Given the description of an element on the screen output the (x, y) to click on. 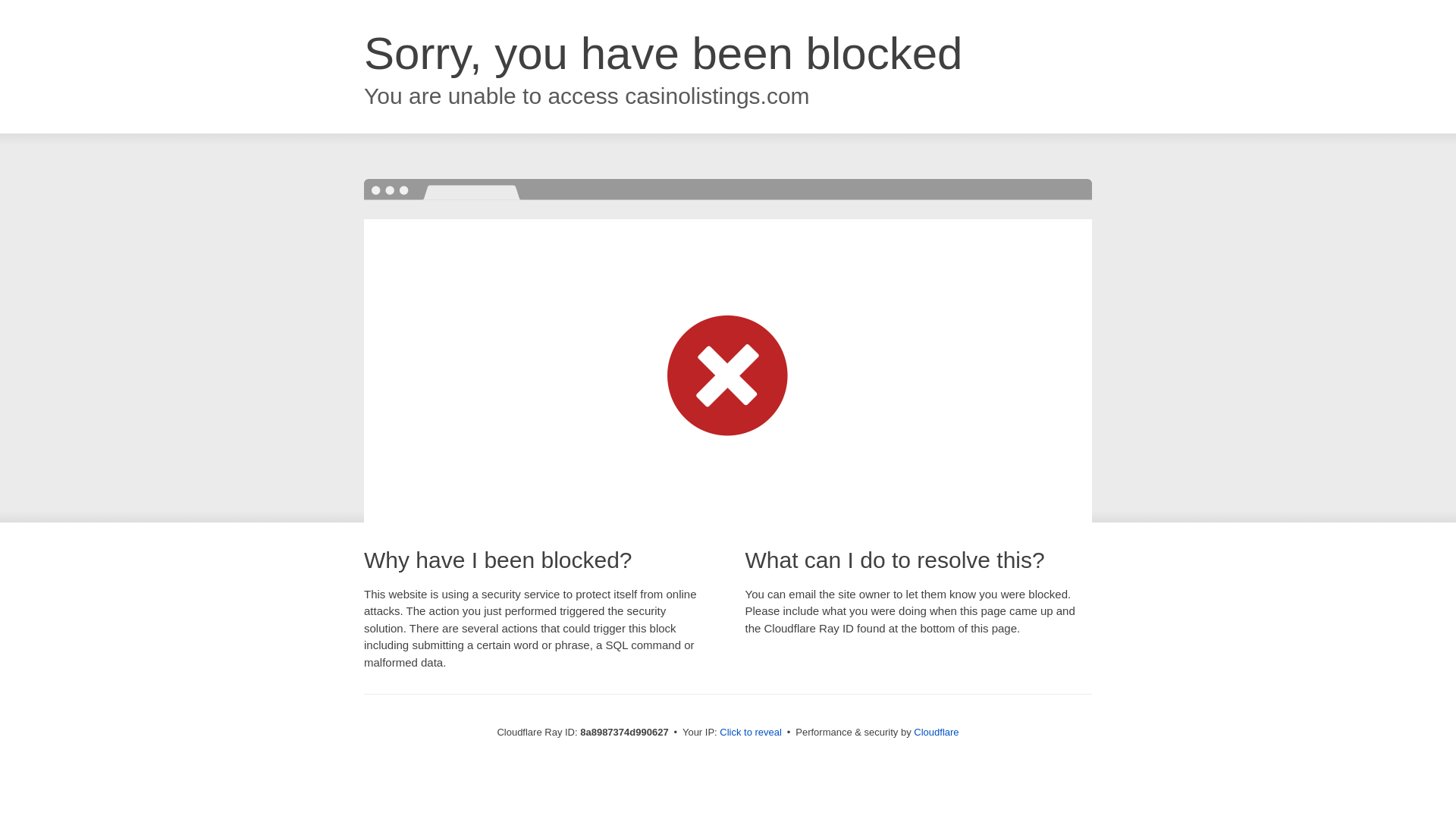
Click to reveal (750, 732)
Cloudflare (936, 731)
